Given the description of an element on the screen output the (x, y) to click on. 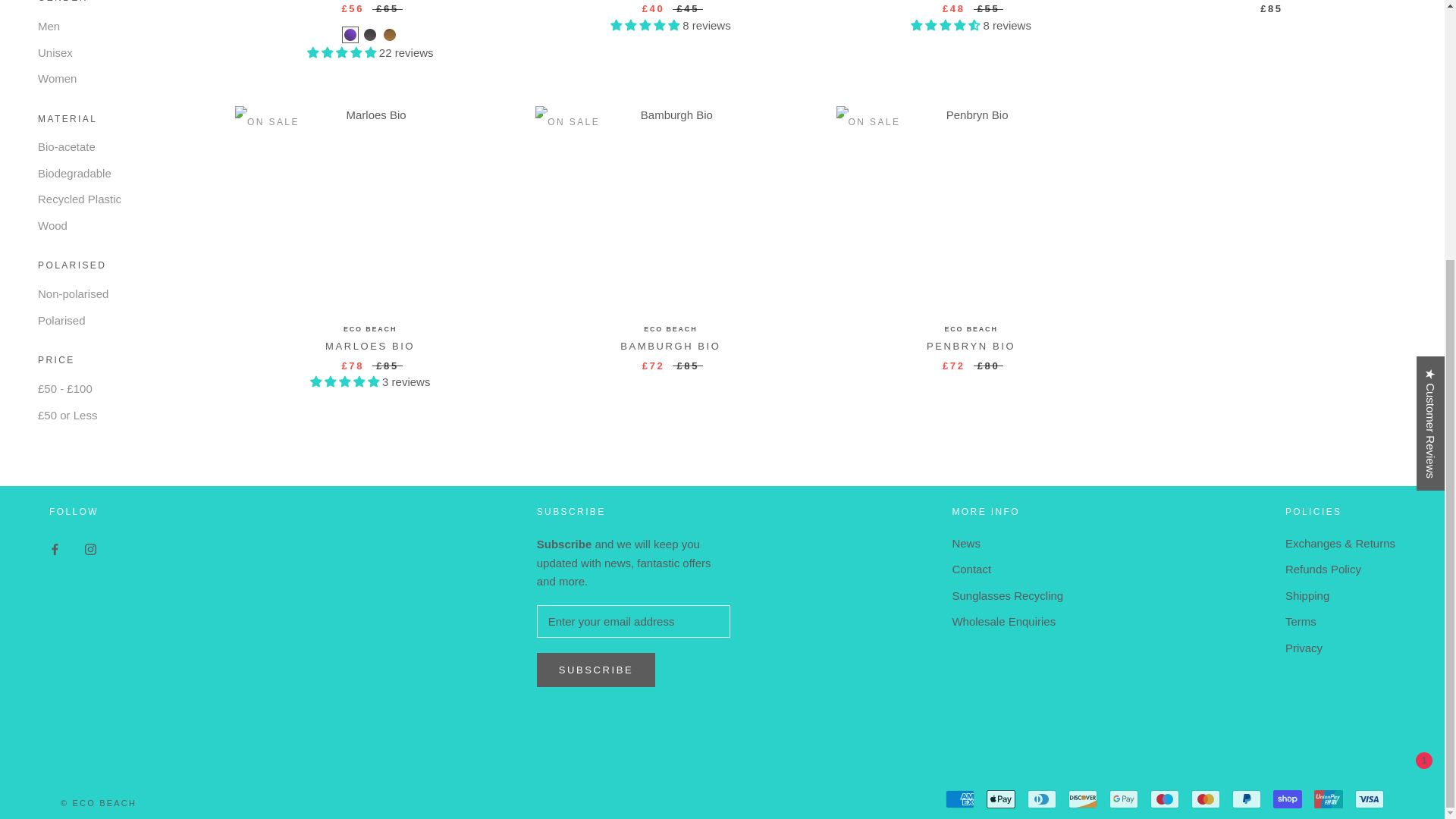
Maestro (1164, 799)
Union Pay (1328, 799)
Diners Club (1042, 799)
American Express (959, 799)
Discover (1082, 799)
Google Pay (1123, 799)
Shop Pay (1286, 799)
PayPal (1245, 799)
Apple Pay (1000, 799)
Mastercard (1205, 799)
Visa (1369, 799)
